Given the description of an element on the screen output the (x, y) to click on. 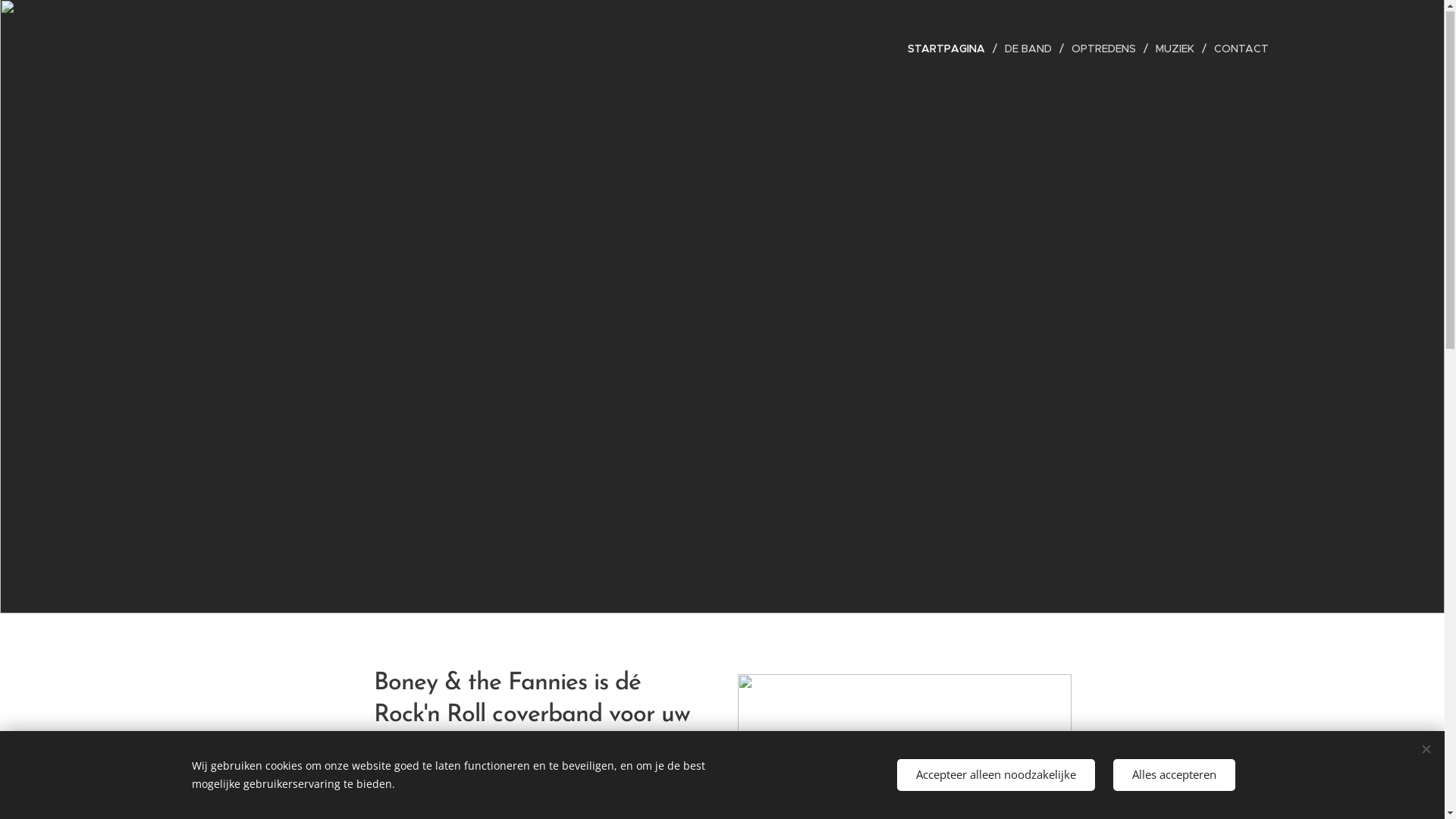
OPTREDENS Element type: text (1105, 49)
Accepteer alleen noodzakelijke Element type: text (995, 774)
DE BAND Element type: text (1029, 49)
CONTACT Element type: text (1236, 49)
MUZIEK Element type: text (1177, 49)
STARTPAGINA Element type: text (950, 49)
Alles accepteren Element type: text (1174, 774)
